Given the description of an element on the screen output the (x, y) to click on. 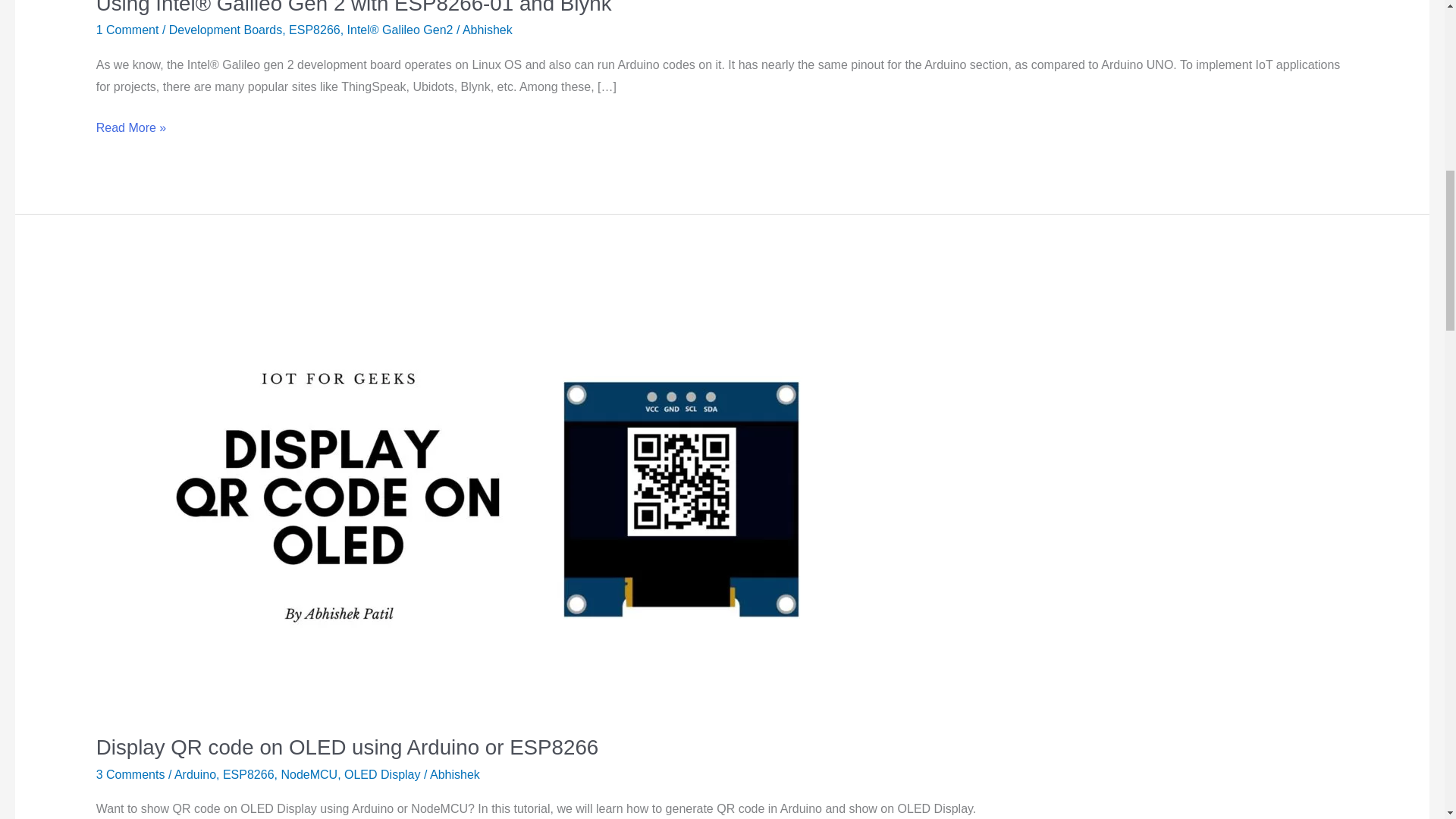
View all posts by Abhishek (487, 29)
1 Comment (127, 29)
Development Boards (225, 29)
3 Comments (130, 774)
Arduino (194, 774)
View all posts by Abhishek (454, 774)
Abhishek (454, 774)
NodeMCU (309, 774)
OLED Display (381, 774)
Abhishek (487, 29)
ESP8266 (314, 29)
Display QR code on OLED using Arduino or ESP8266 (347, 747)
ESP8266 (248, 774)
